Given the description of an element on the screen output the (x, y) to click on. 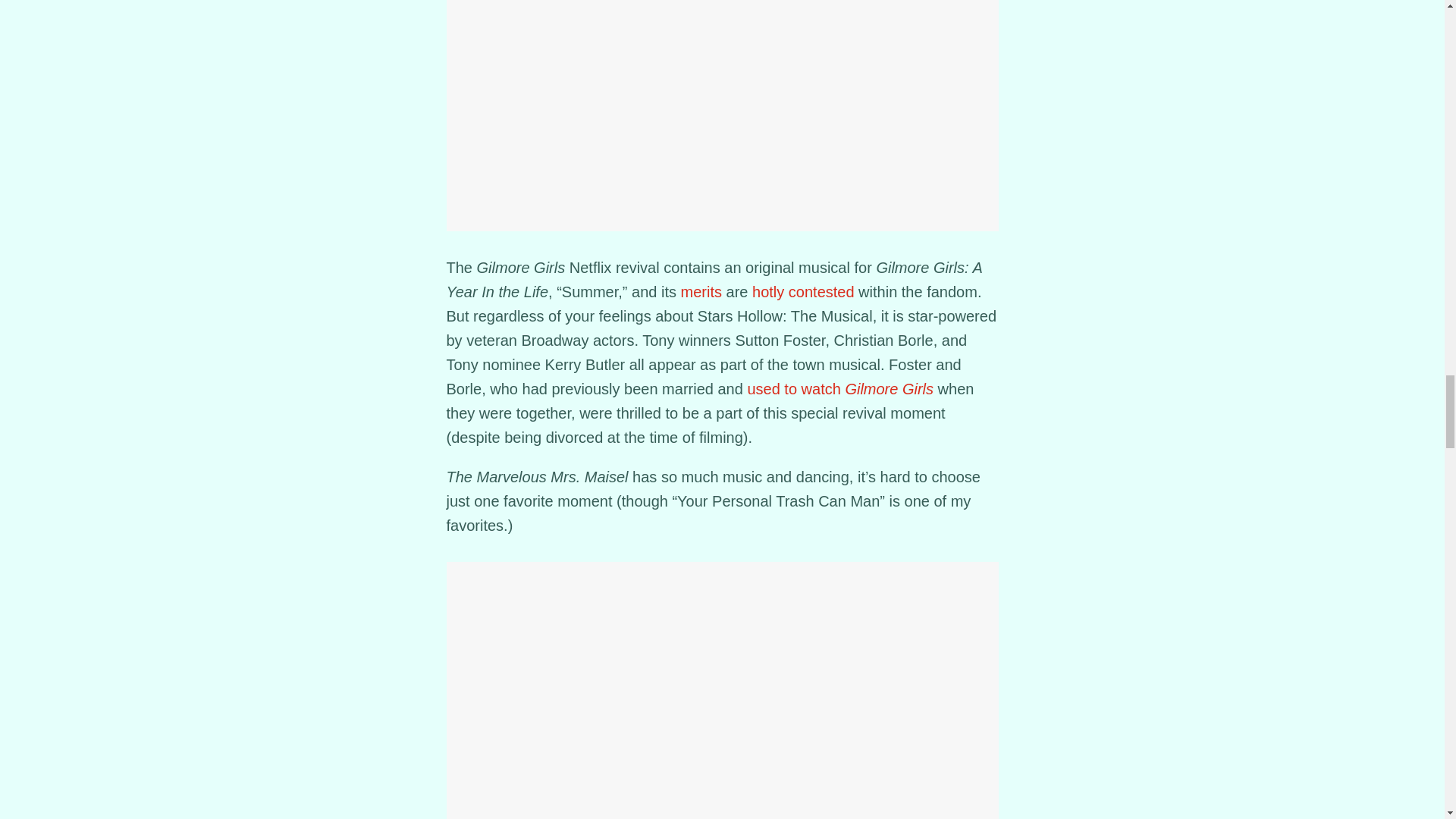
hotly contested (803, 291)
used to watch (795, 388)
merits (701, 291)
Gilmore Girls (888, 388)
